Given the description of an element on the screen output the (x, y) to click on. 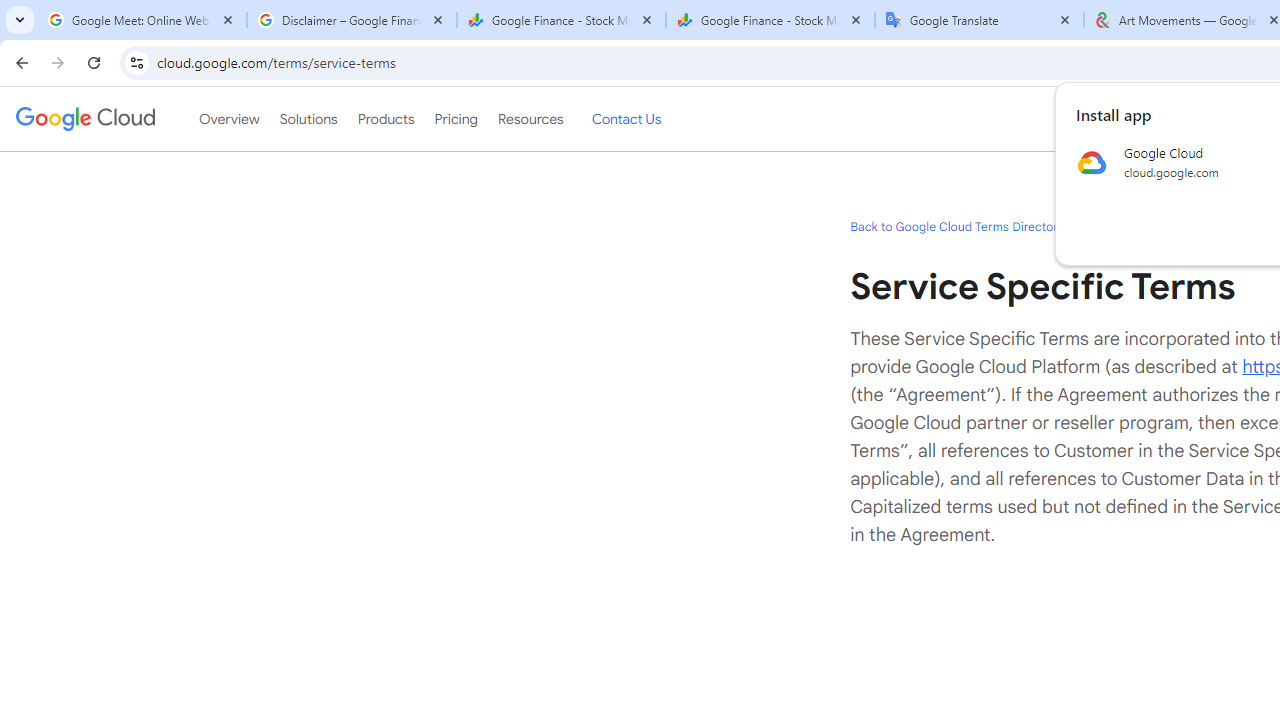
Pricing (455, 119)
Google Translate (979, 20)
Back to Google Cloud Terms Directory (956, 226)
